Given the description of an element on the screen output the (x, y) to click on. 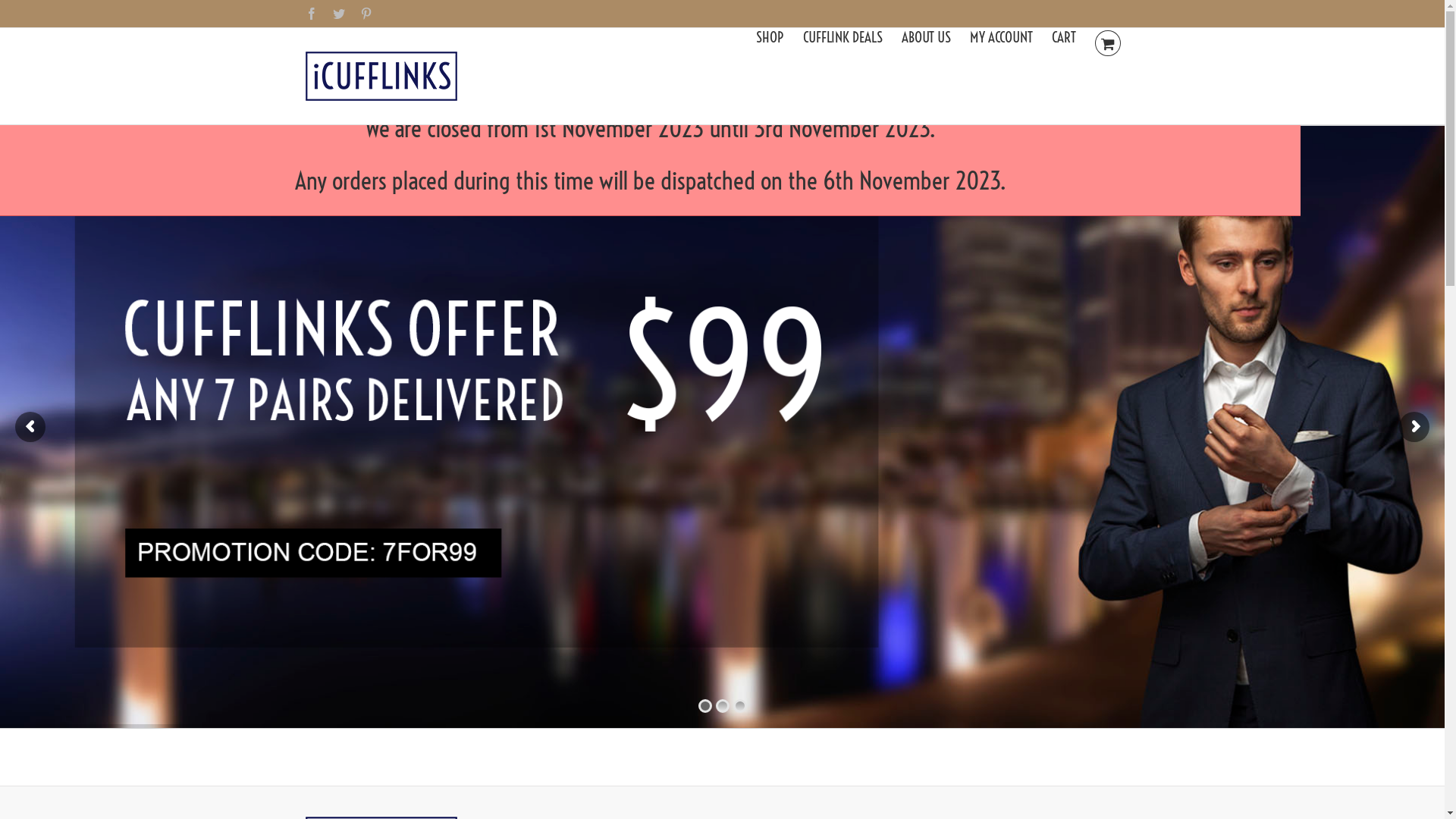
MY ACCOUNT Element type: text (1000, 36)
Twitter Element type: text (338, 13)
X Element type: text (1218, 24)
CART Element type: text (1063, 36)
CUFFLINK DEALS Element type: text (842, 36)
Facebook Element type: text (310, 13)
SHOP Element type: text (770, 36)
ABOUT US Element type: text (925, 36)
Pinterest Element type: text (365, 13)
